Given the description of an element on the screen output the (x, y) to click on. 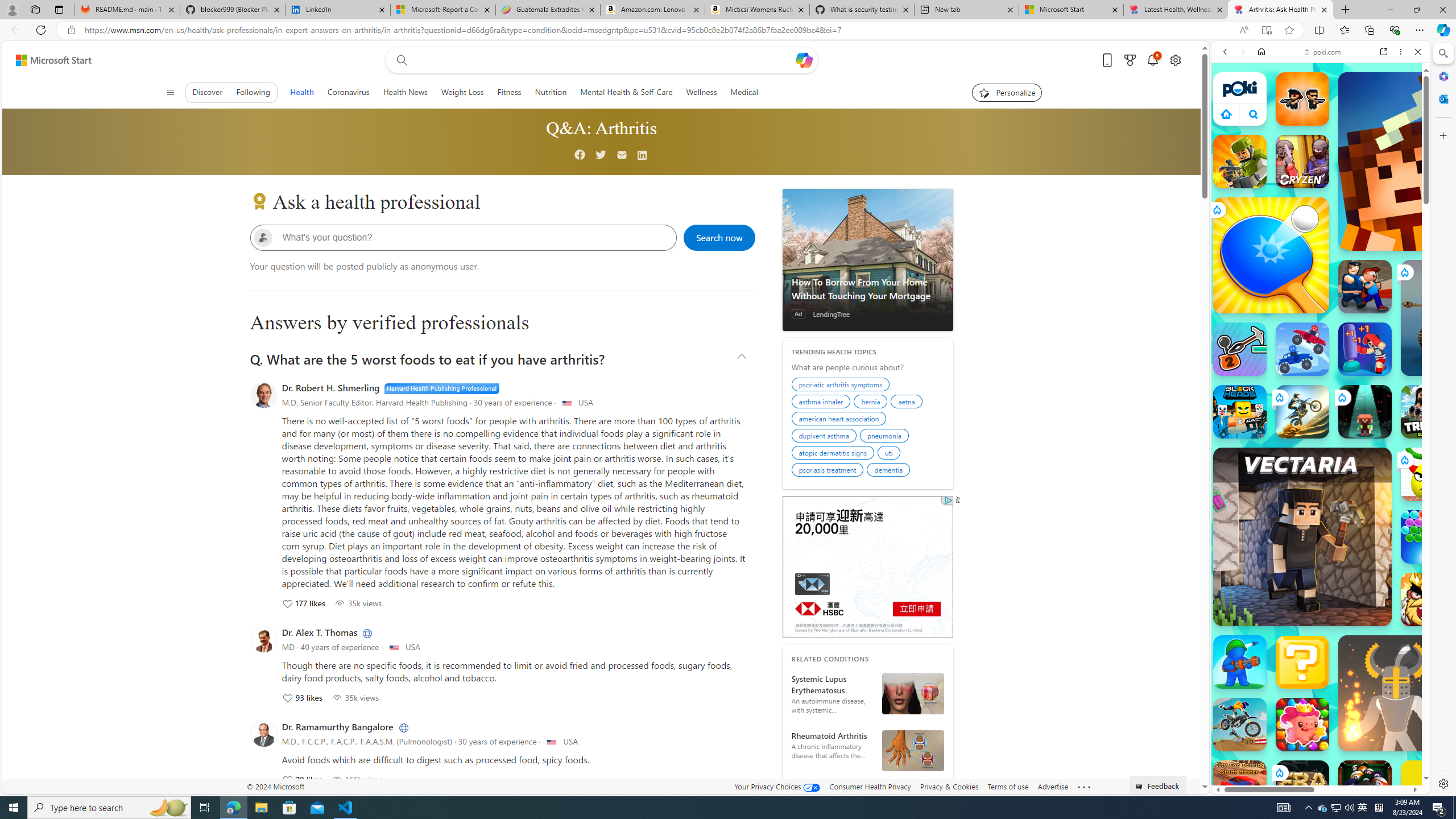
Draw To Smash: Logic Puzzle (1427, 474)
Tribals.io Tribals.io (1427, 411)
Combat Reloaded (1348, 574)
Harvard health publishing professional (441, 387)
8 Ball Pool With Buddies 8 Ball Pool With Buddies (1364, 787)
Fitness (509, 92)
